Given the description of an element on the screen output the (x, y) to click on. 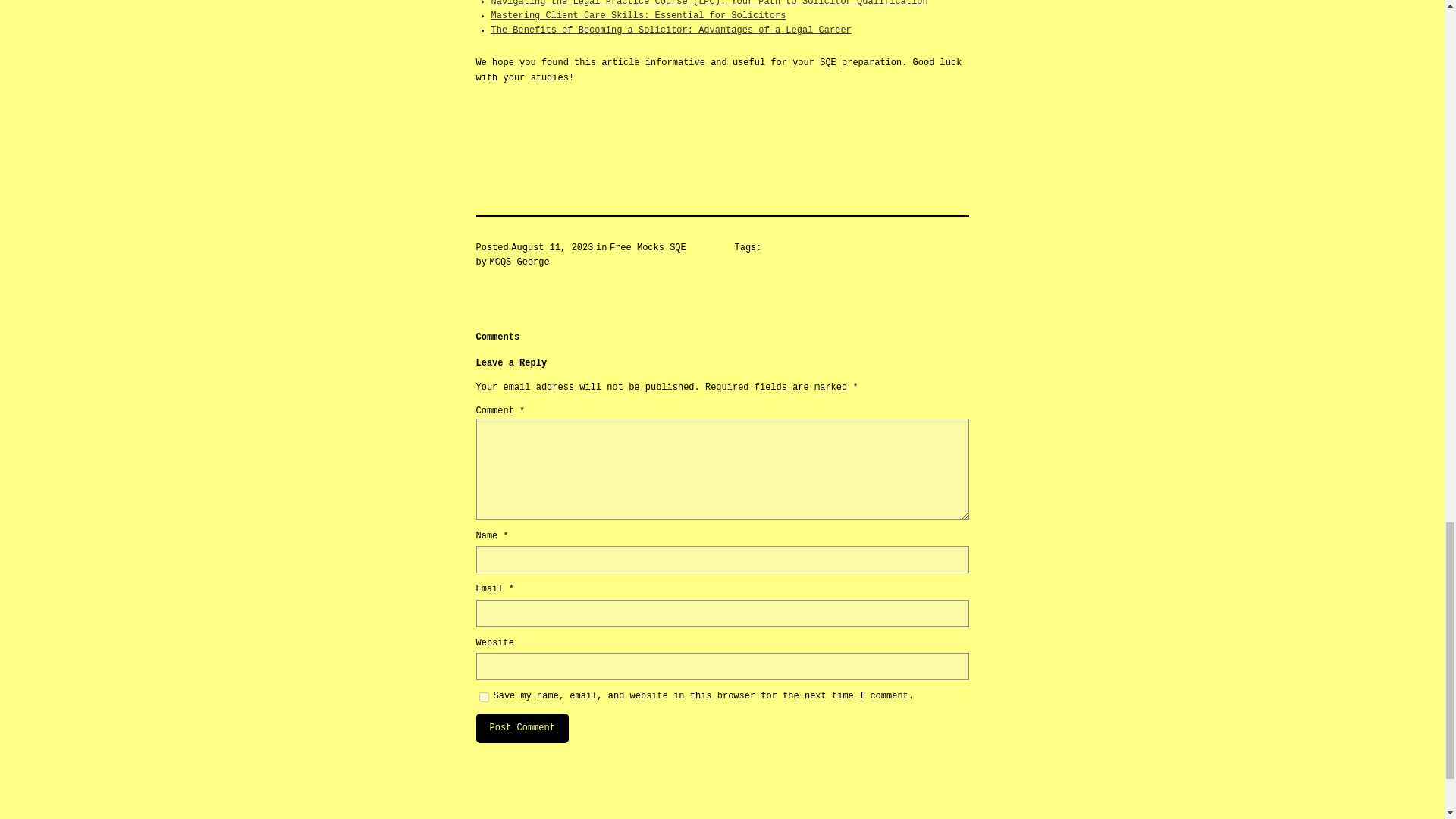
Mastering Client Care Skills: Essential for Solicitors (639, 15)
Free Mocks SQE (647, 247)
Post Comment (522, 727)
Post Comment (522, 727)
yes (484, 696)
